Given the description of an element on the screen output the (x, y) to click on. 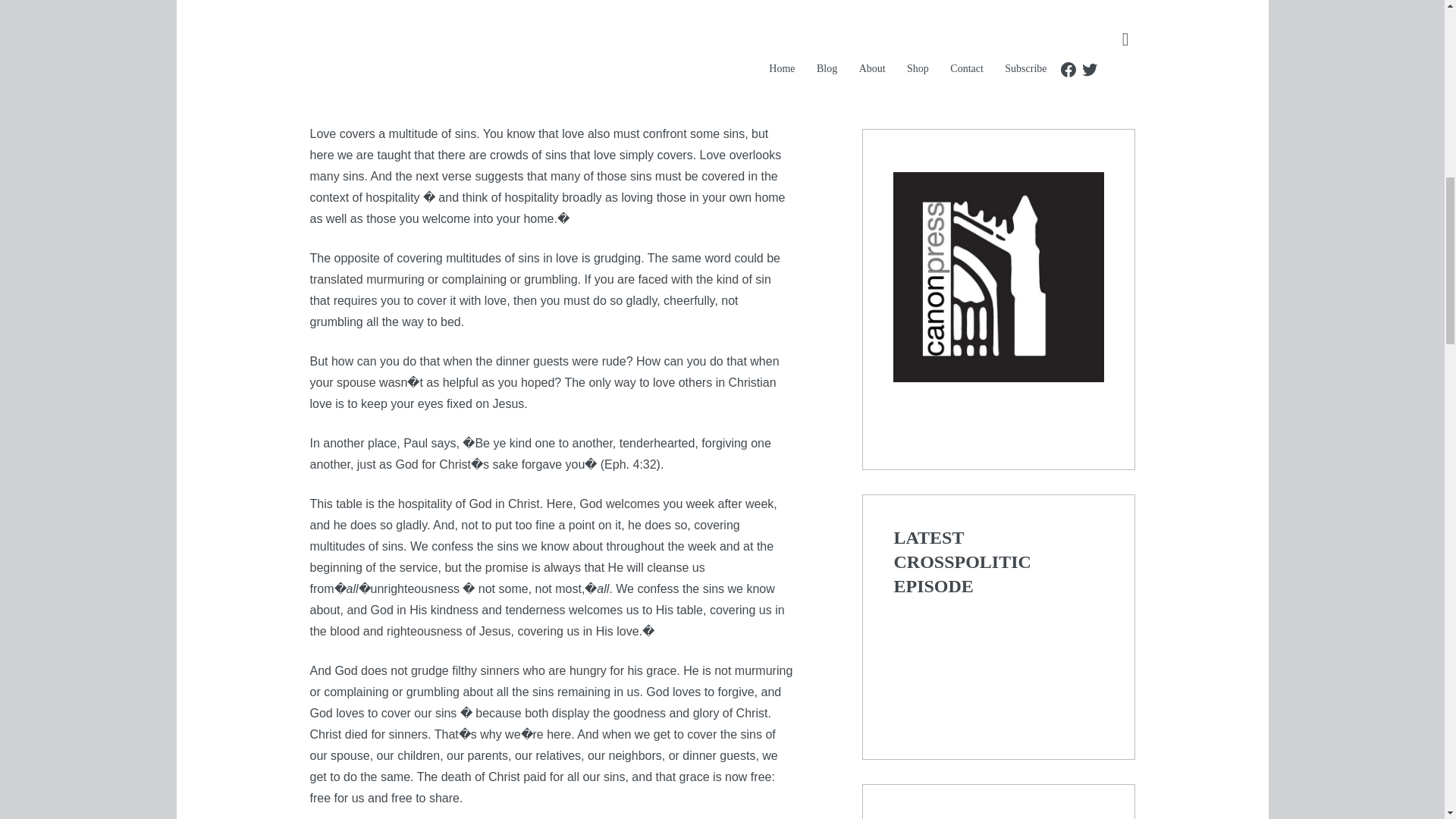
TOBY (398, 30)
